Given the description of an element on the screen output the (x, y) to click on. 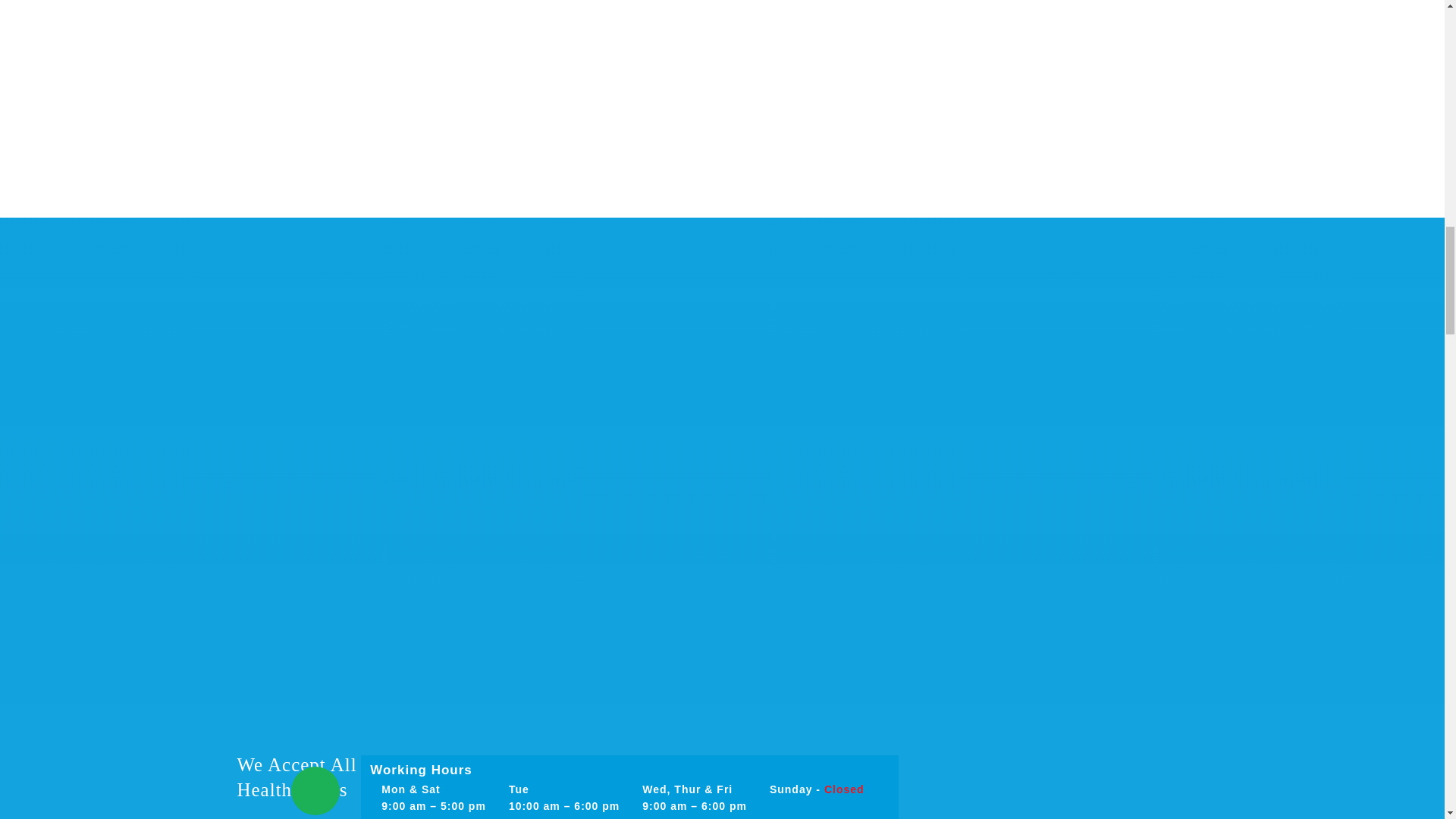
smile.com.au (560, 777)
